Given the description of an element on the screen output the (x, y) to click on. 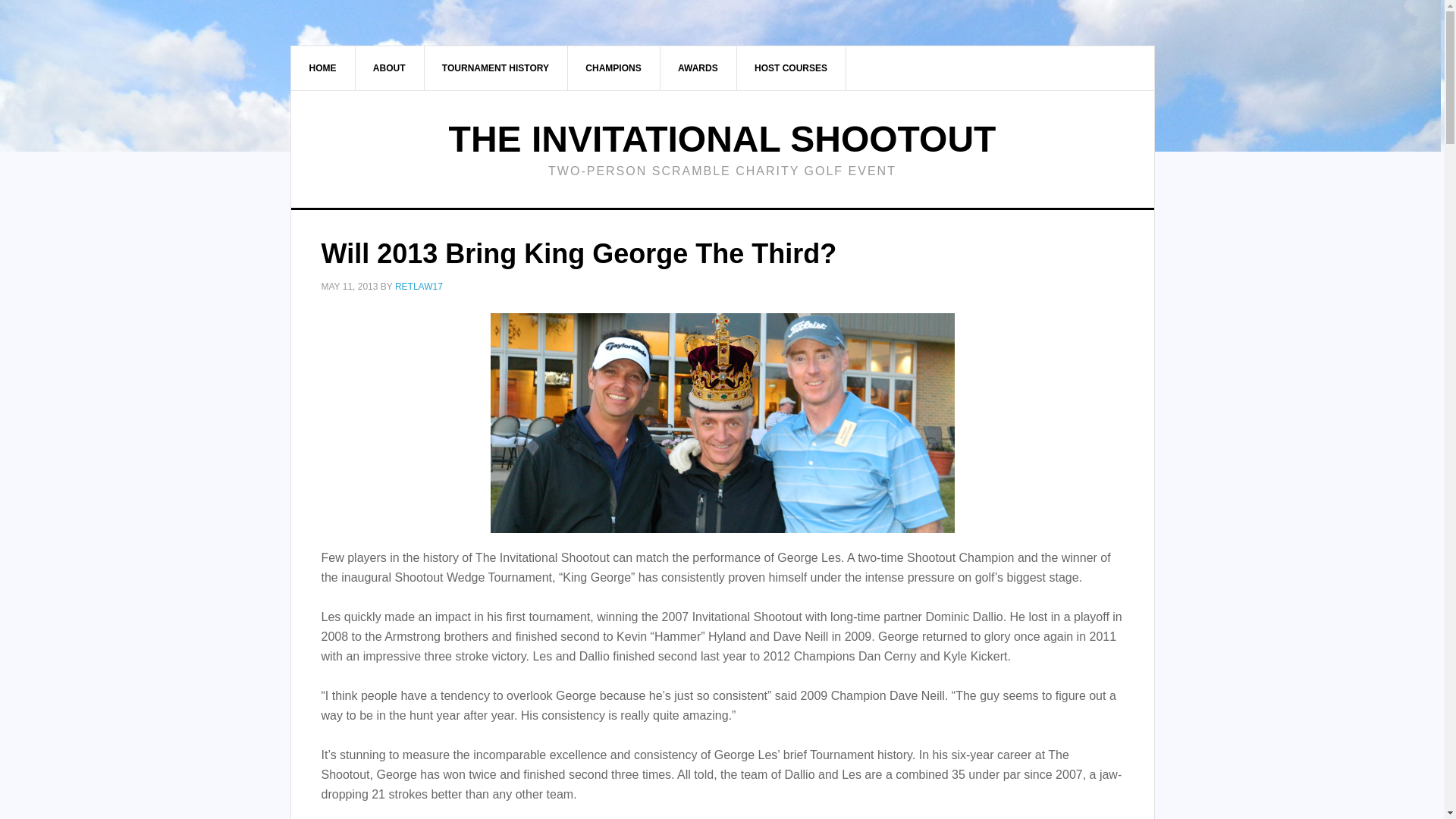
TOURNAMENT HISTORY (495, 67)
HOME (323, 67)
CHAMPIONS (613, 67)
ABOUT (390, 67)
